Given the description of an element on the screen output the (x, y) to click on. 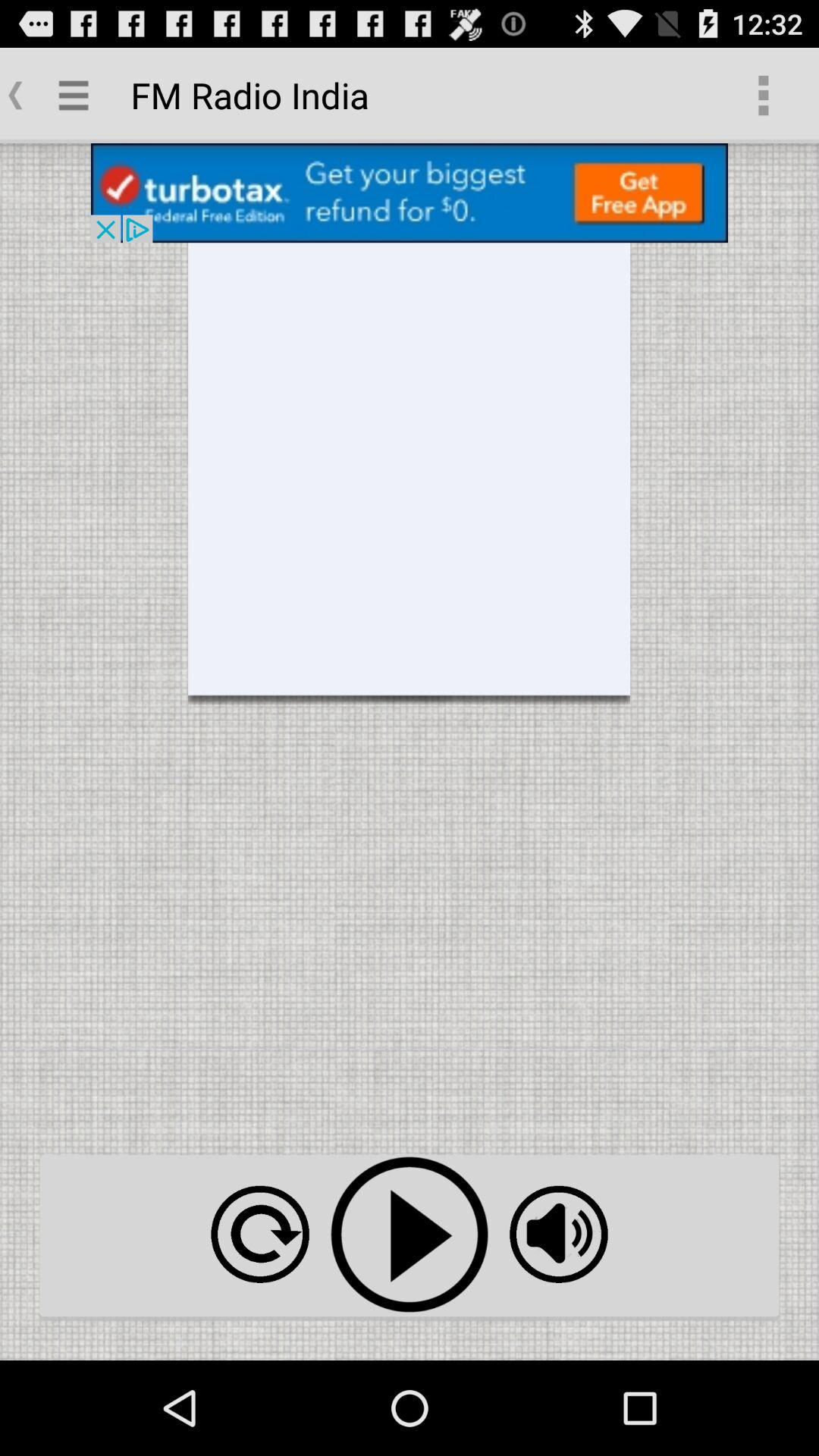
redirect to turbotax.com (409, 192)
